Given the description of an element on the screen output the (x, y) to click on. 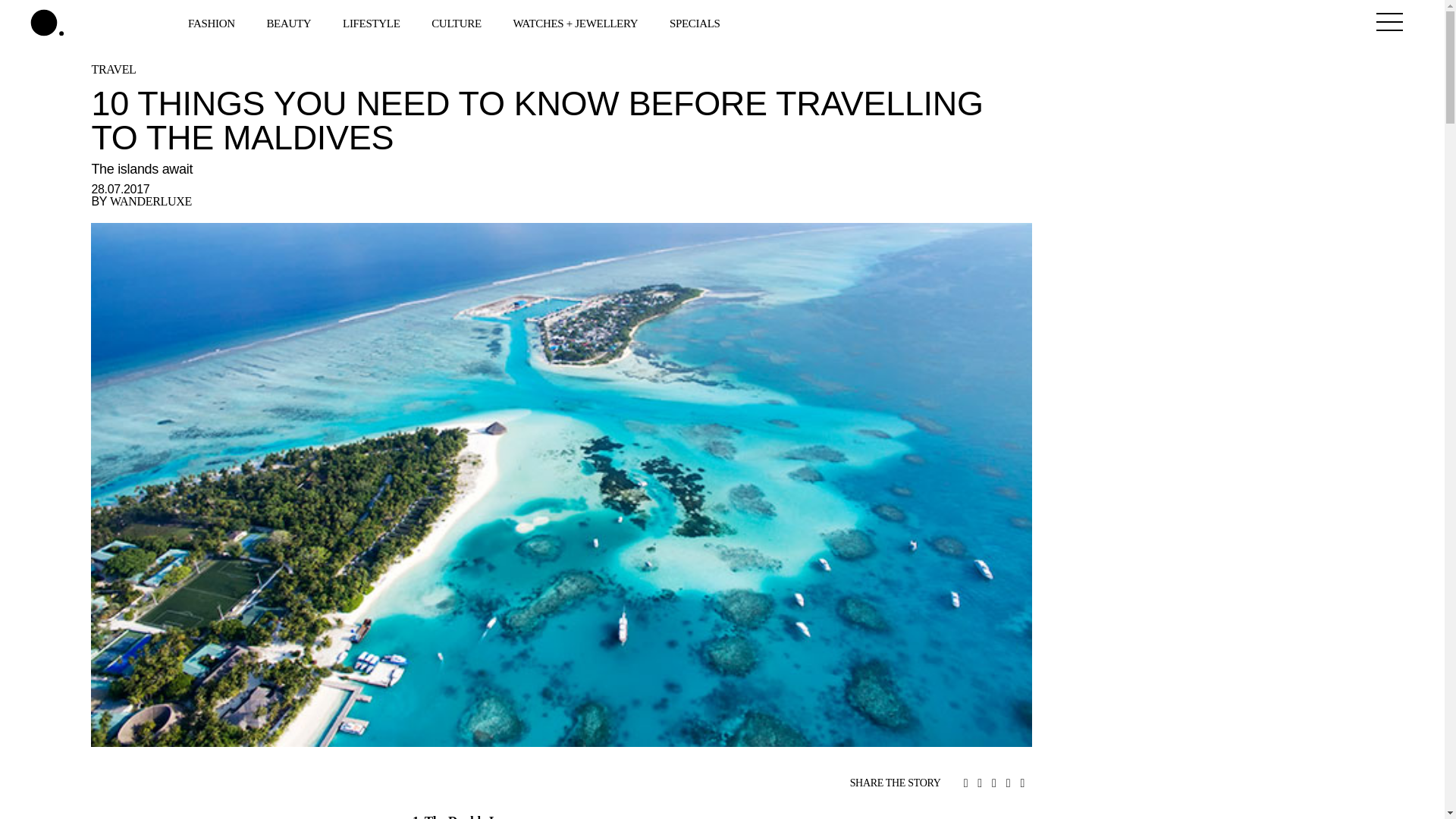
LIFESTYLE (372, 21)
SPECIALS (696, 21)
CULTURE (457, 21)
FASHION (212, 21)
BEAUTY (290, 21)
